Given the description of an element on the screen output the (x, y) to click on. 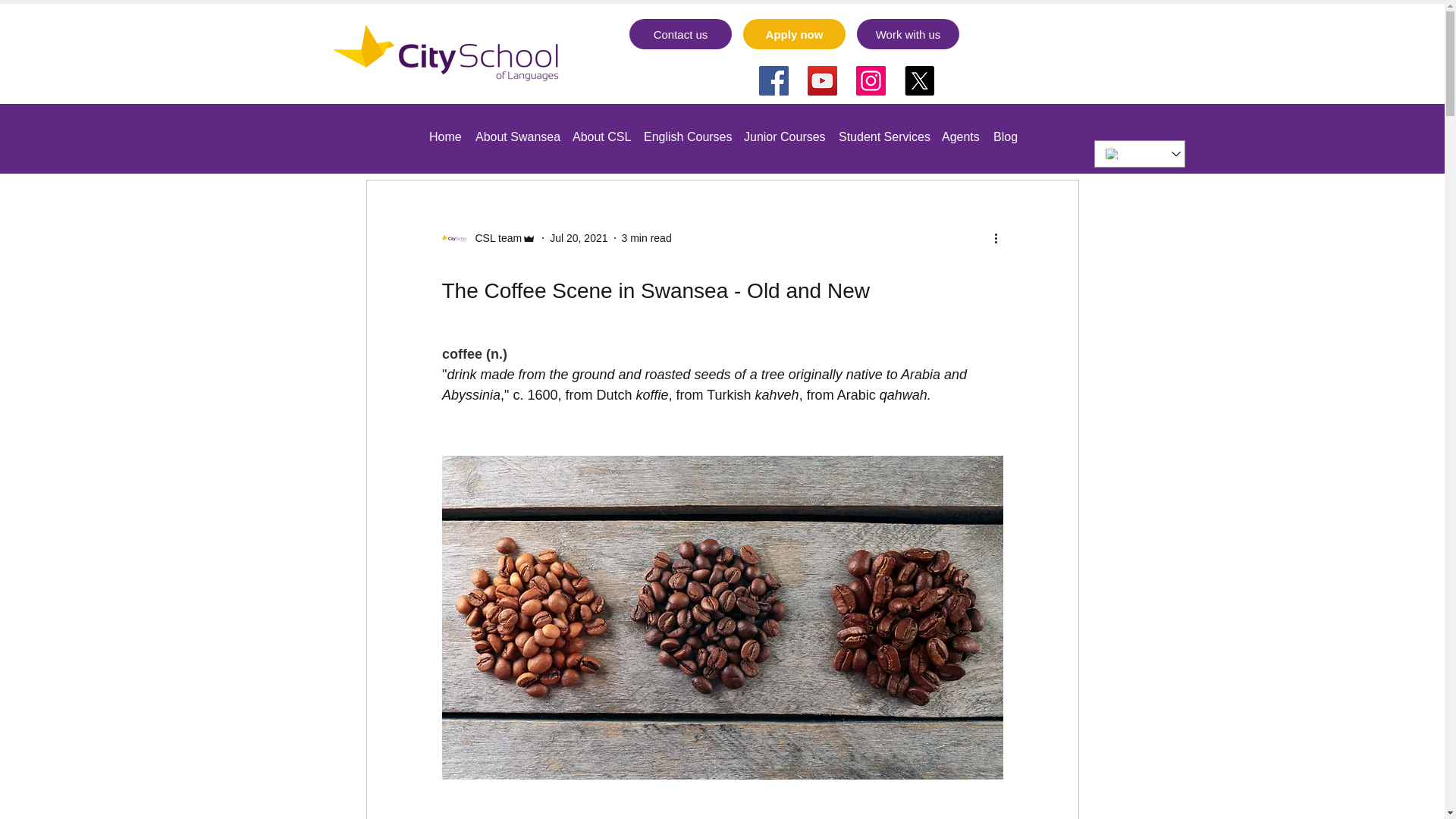
Apply now (793, 33)
Contact us (680, 33)
CSL team (493, 238)
Travel (450, 133)
3 min read (646, 237)
All Posts (385, 133)
Work with us (908, 33)
CSL team (488, 238)
Jul 20, 2021 (578, 237)
Learning English (532, 133)
